Given the description of an element on the screen output the (x, y) to click on. 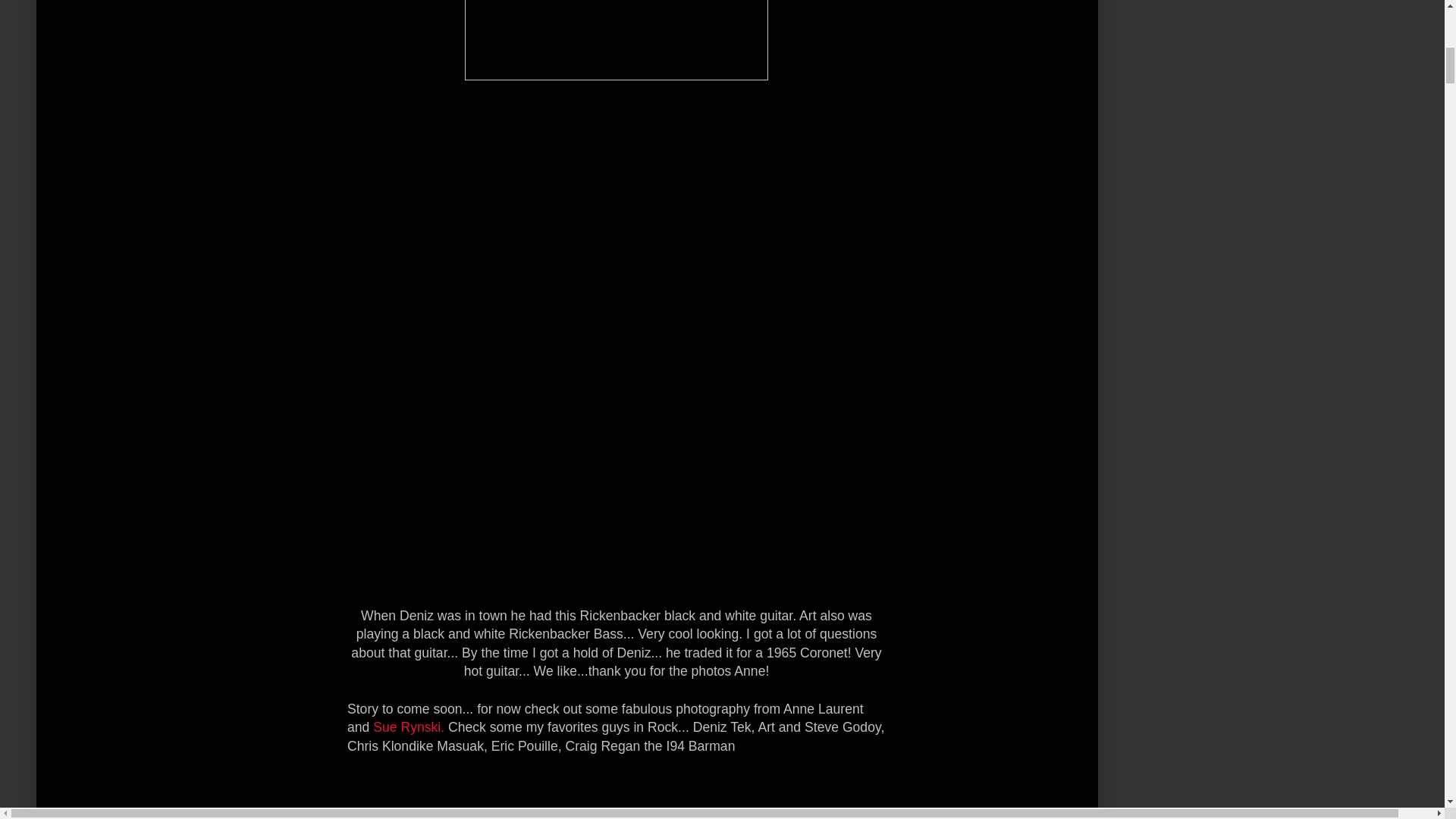
Sue Rynski. (408, 726)
